Given the description of an element on the screen output the (x, y) to click on. 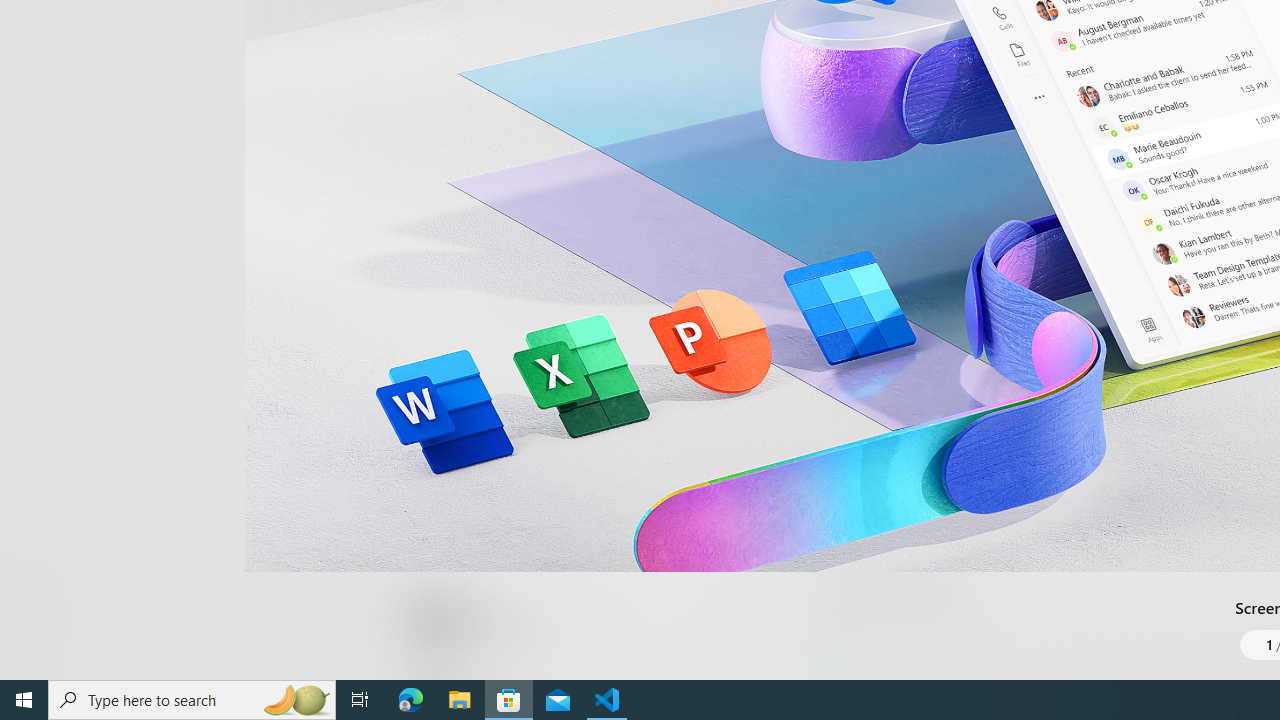
Productivity (579, 30)
Share (746, 632)
Show more (854, 674)
Show all ratings and reviews (838, 207)
Age rating: EVERYONE. Click for more information. (506, 619)
Show less (850, 518)
